Given the description of an element on the screen output the (x, y) to click on. 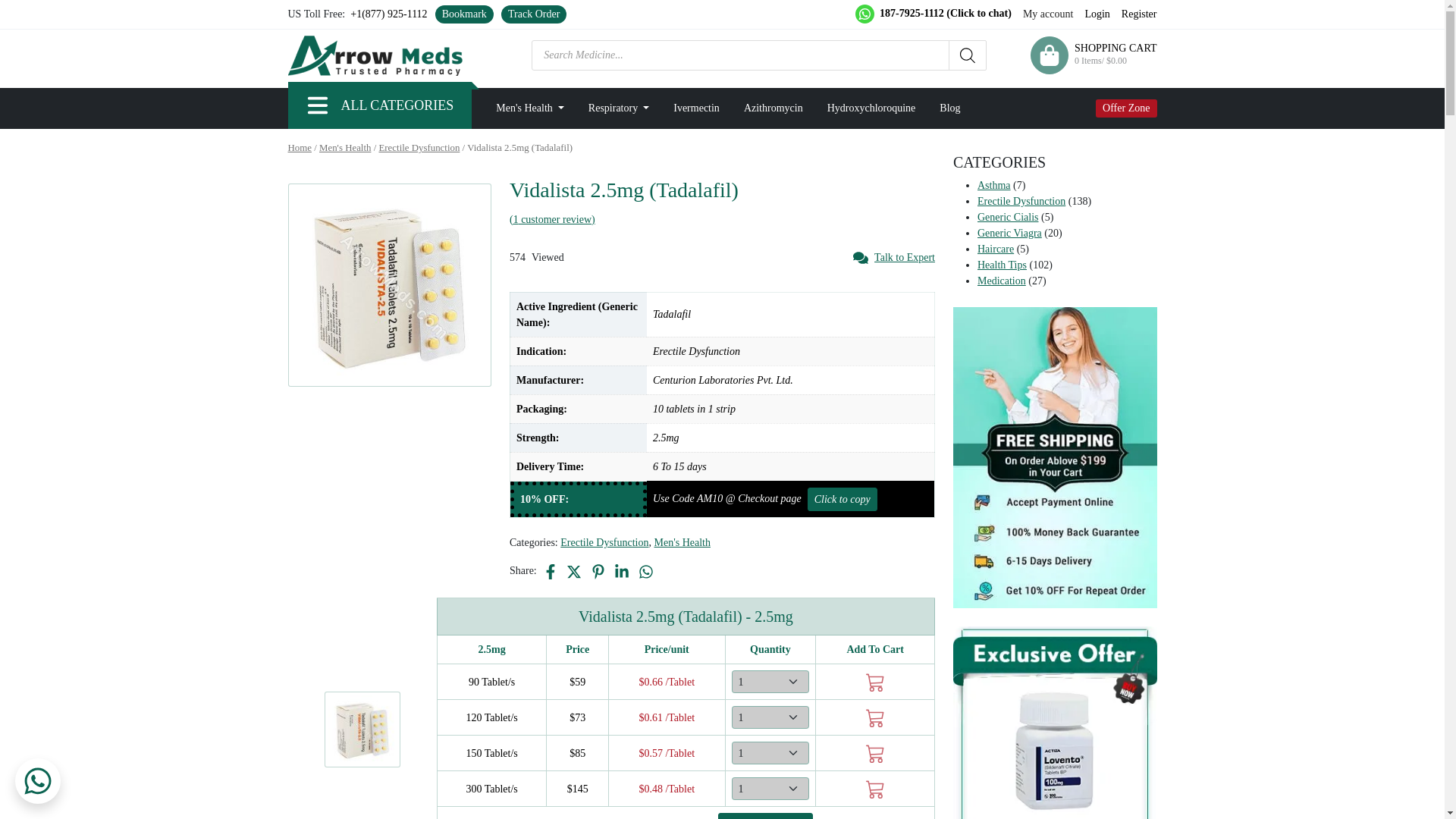
Track Order (533, 13)
Vidalista 2.5mg (362, 729)
Bookmark (464, 13)
Ivermectin (696, 108)
Respiratory (618, 108)
Azithromycin (773, 108)
Offer Zone (1126, 108)
My account (1048, 13)
Men's Health (529, 108)
Hydroxychloroquine (871, 108)
